Given the description of an element on the screen output the (x, y) to click on. 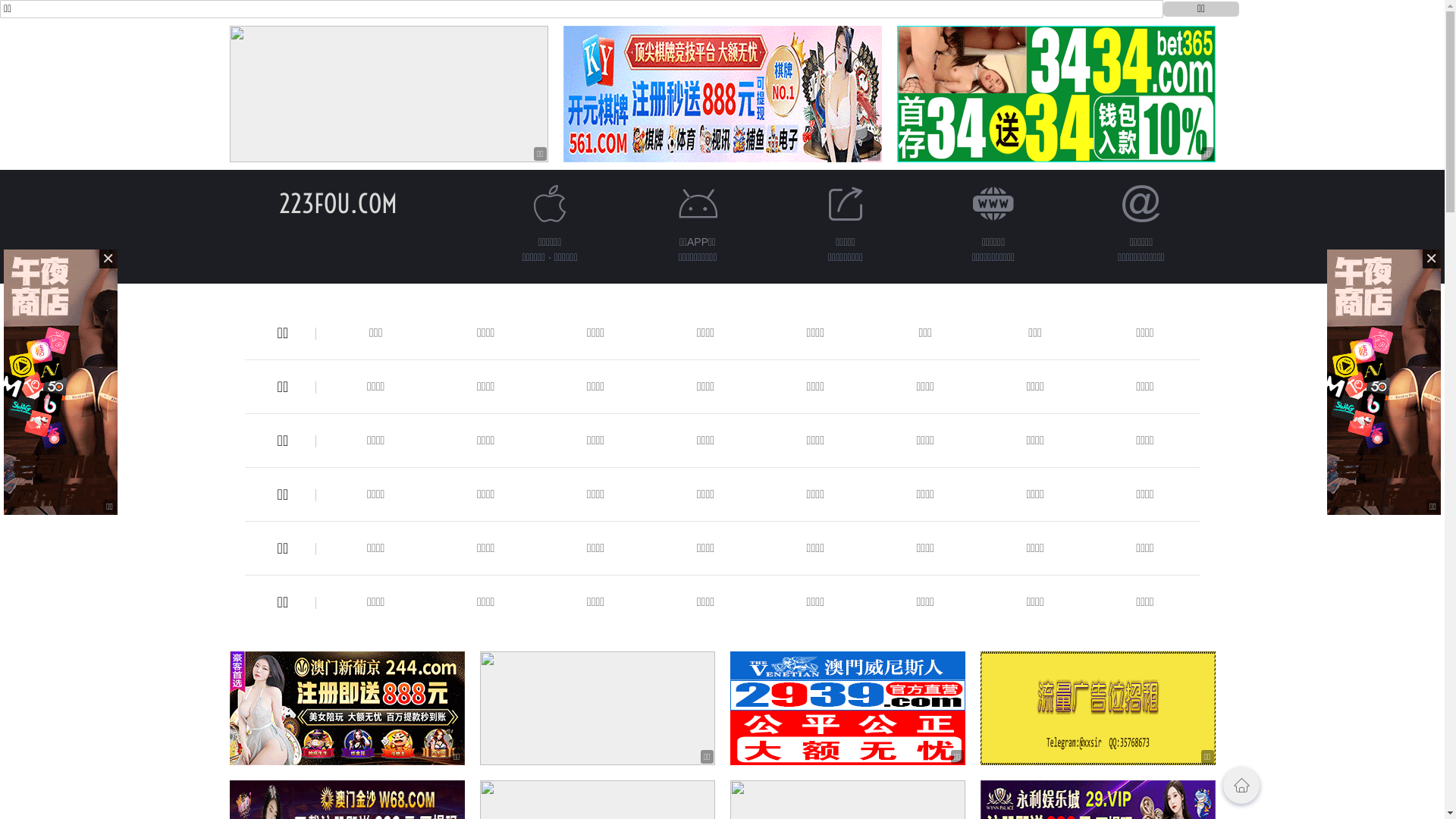
223FOU.COM Element type: text (338, 203)
